Given the description of an element on the screen output the (x, y) to click on. 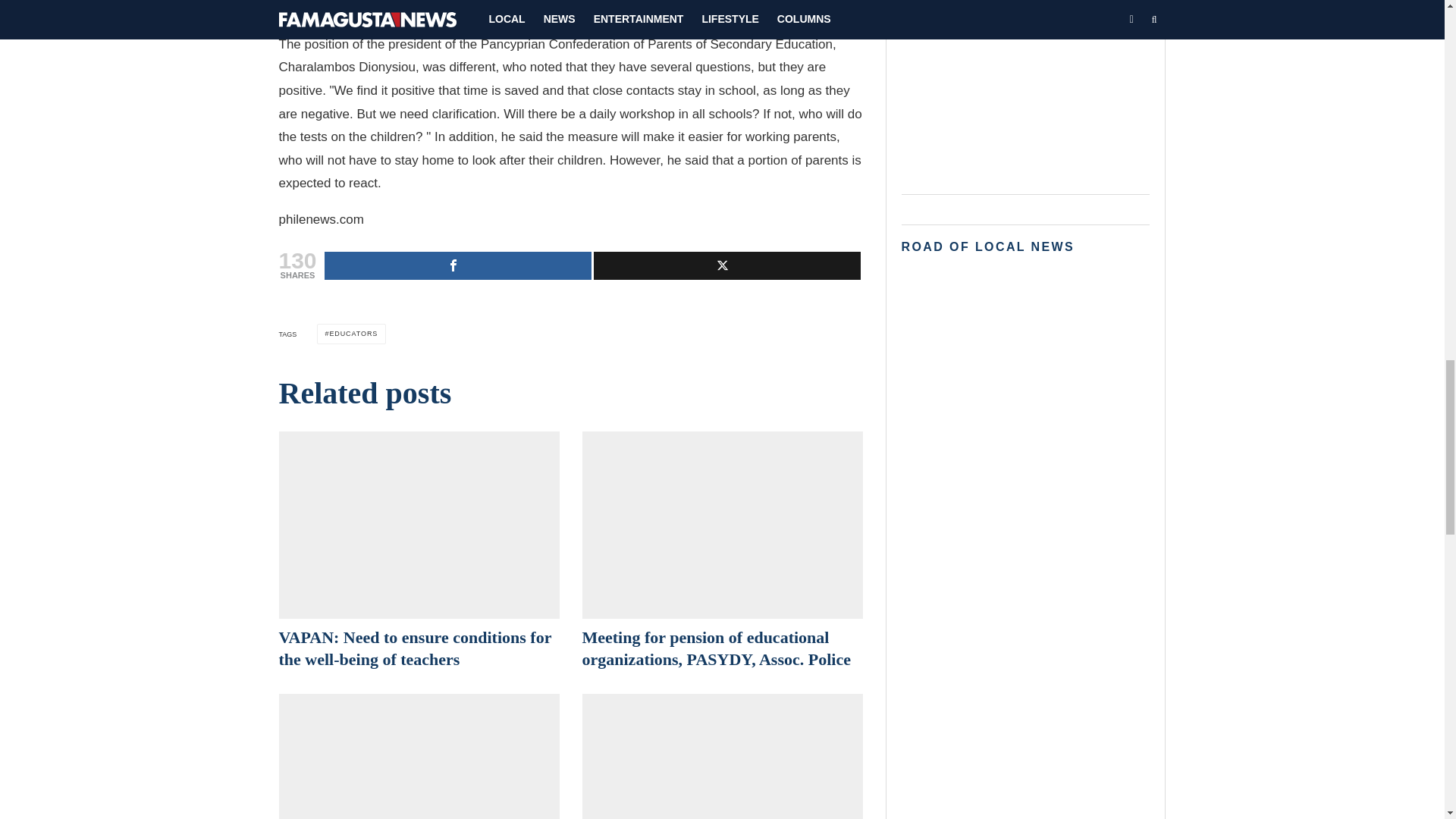
2bce32f958947ffa601e0737d02e9c74 (722, 756)
0080041d20c1493ff4b4344f9ece4c05 (722, 525)
